Given the description of an element on the screen output the (x, y) to click on. 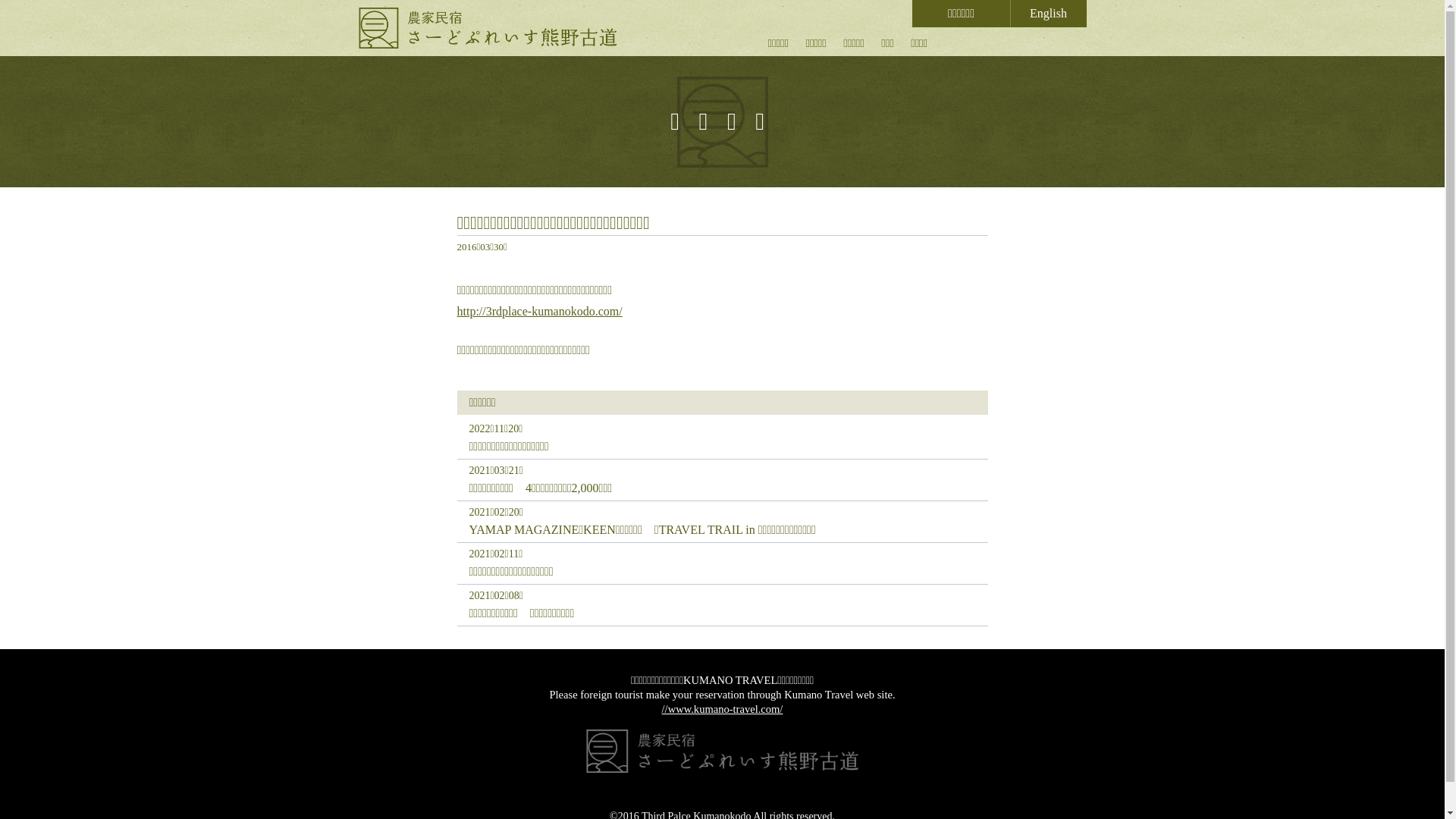
http://3rdplace-kumanokodo.com/ Element type: text (538, 310)
English Element type: text (1047, 13)
//www.kumano-travel.com/ Element type: text (722, 708)
